Given the description of an element on the screen output the (x, y) to click on. 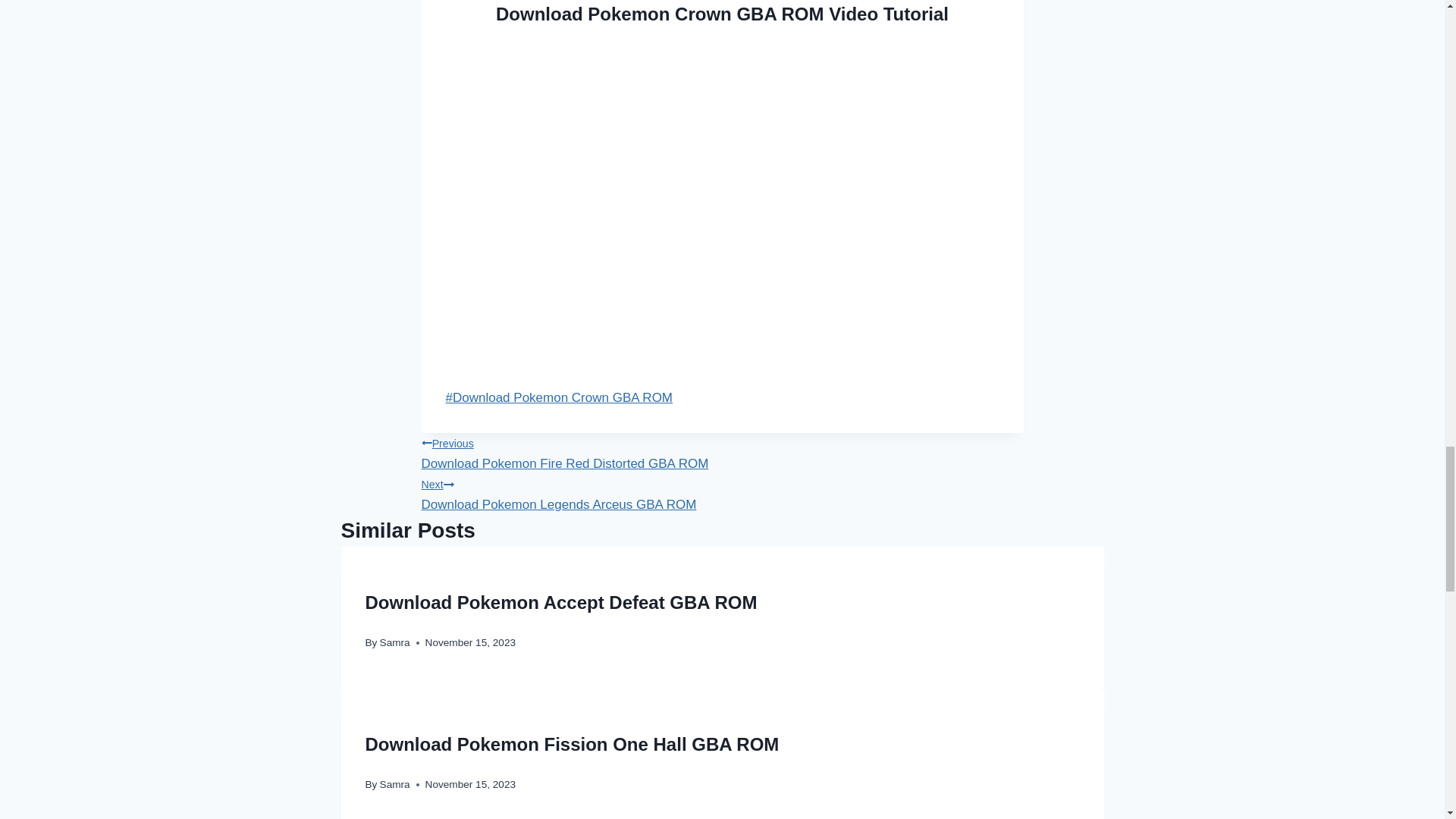
Download Pokemon Crown GBA ROM (558, 397)
Samra (395, 642)
Download Pokemon Fission One Hall GBA ROM (722, 492)
Samra (722, 451)
Download Pokemon Accept Defeat GBA ROM (571, 743)
